Given the description of an element on the screen output the (x, y) to click on. 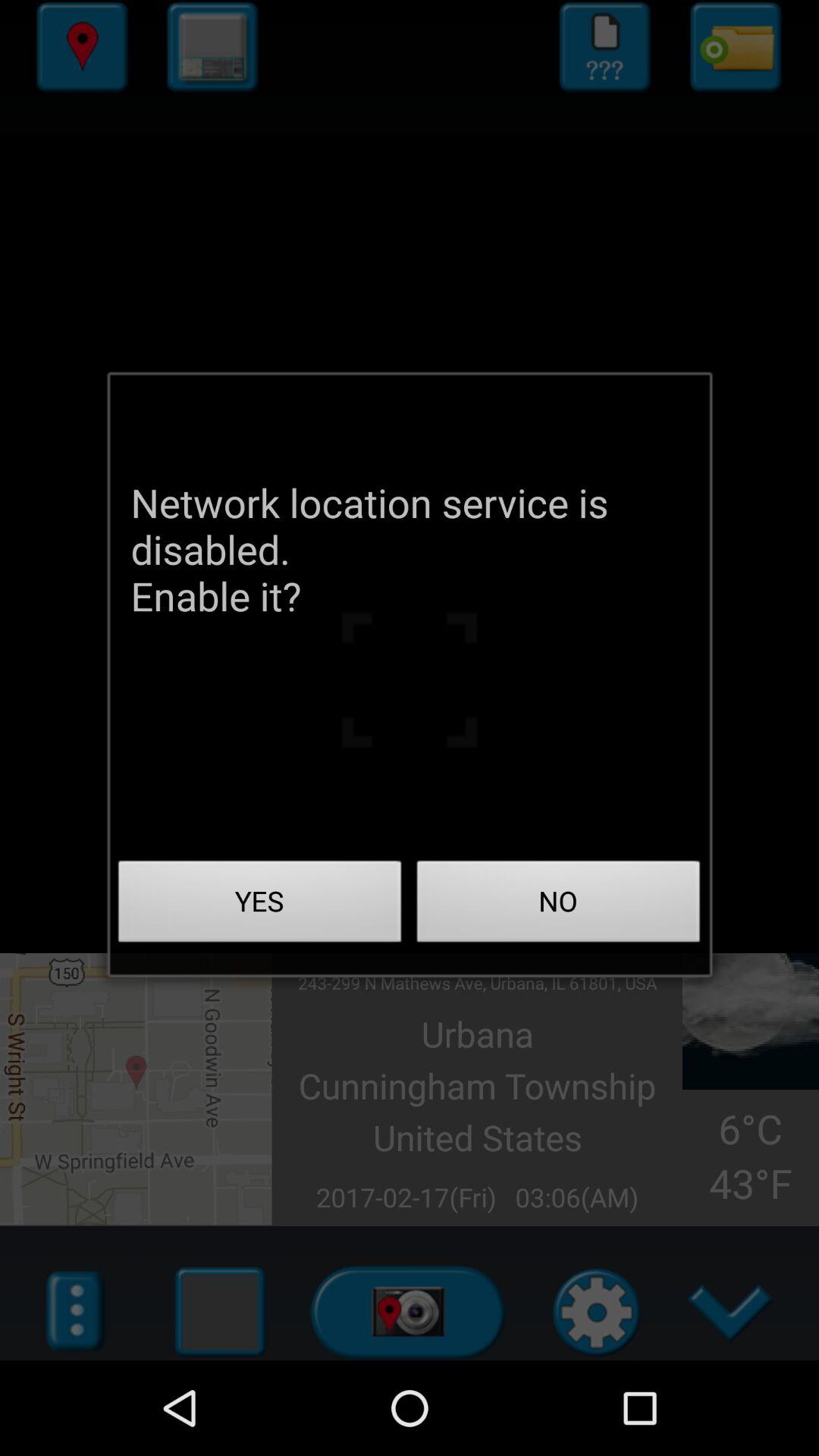
turn off item next to the yes button (558, 905)
